Given the description of an element on the screen output the (x, y) to click on. 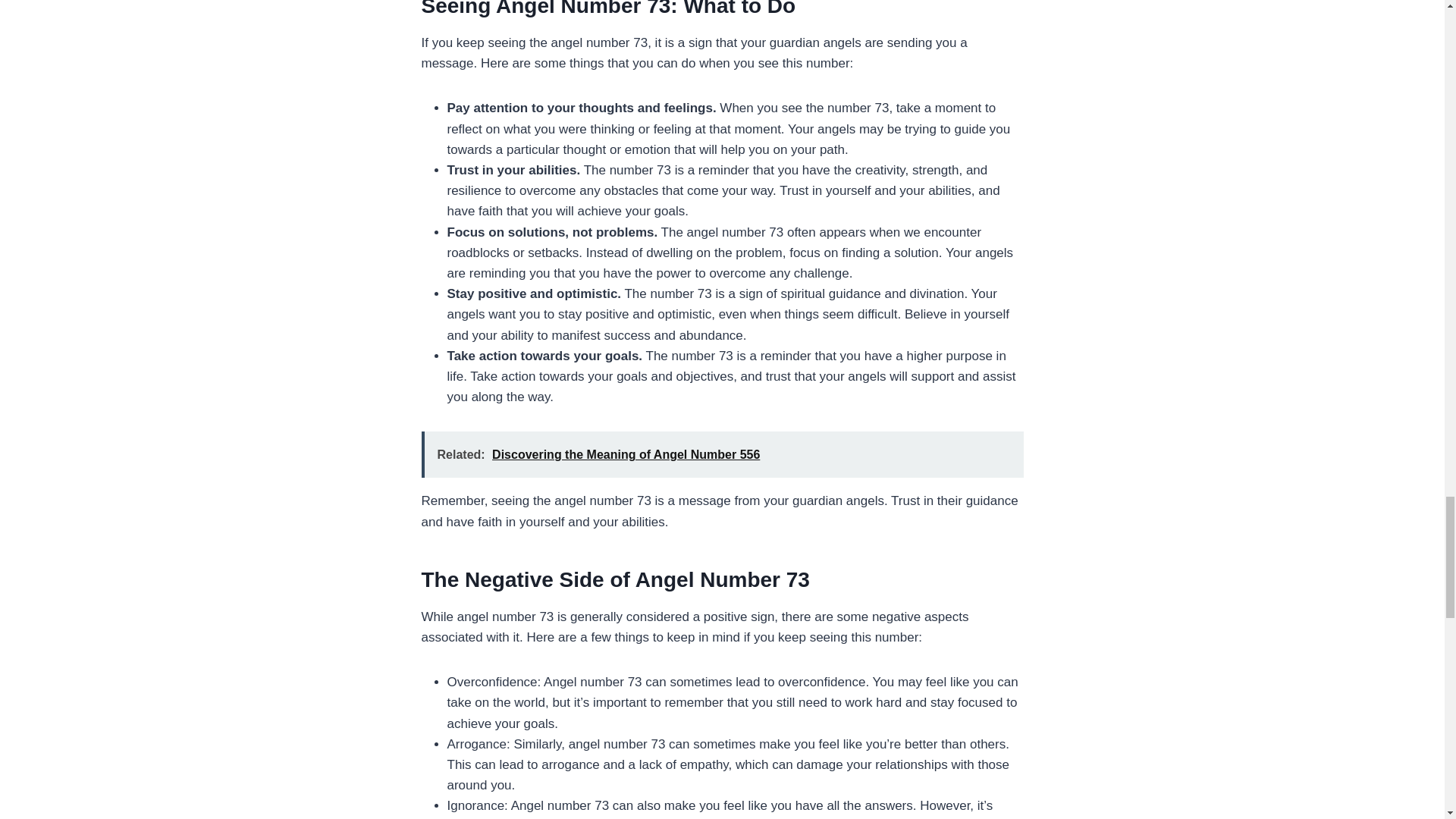
Related:  Discovering the Meaning of Angel Number 556 (722, 454)
